Given the description of an element on the screen output the (x, y) to click on. 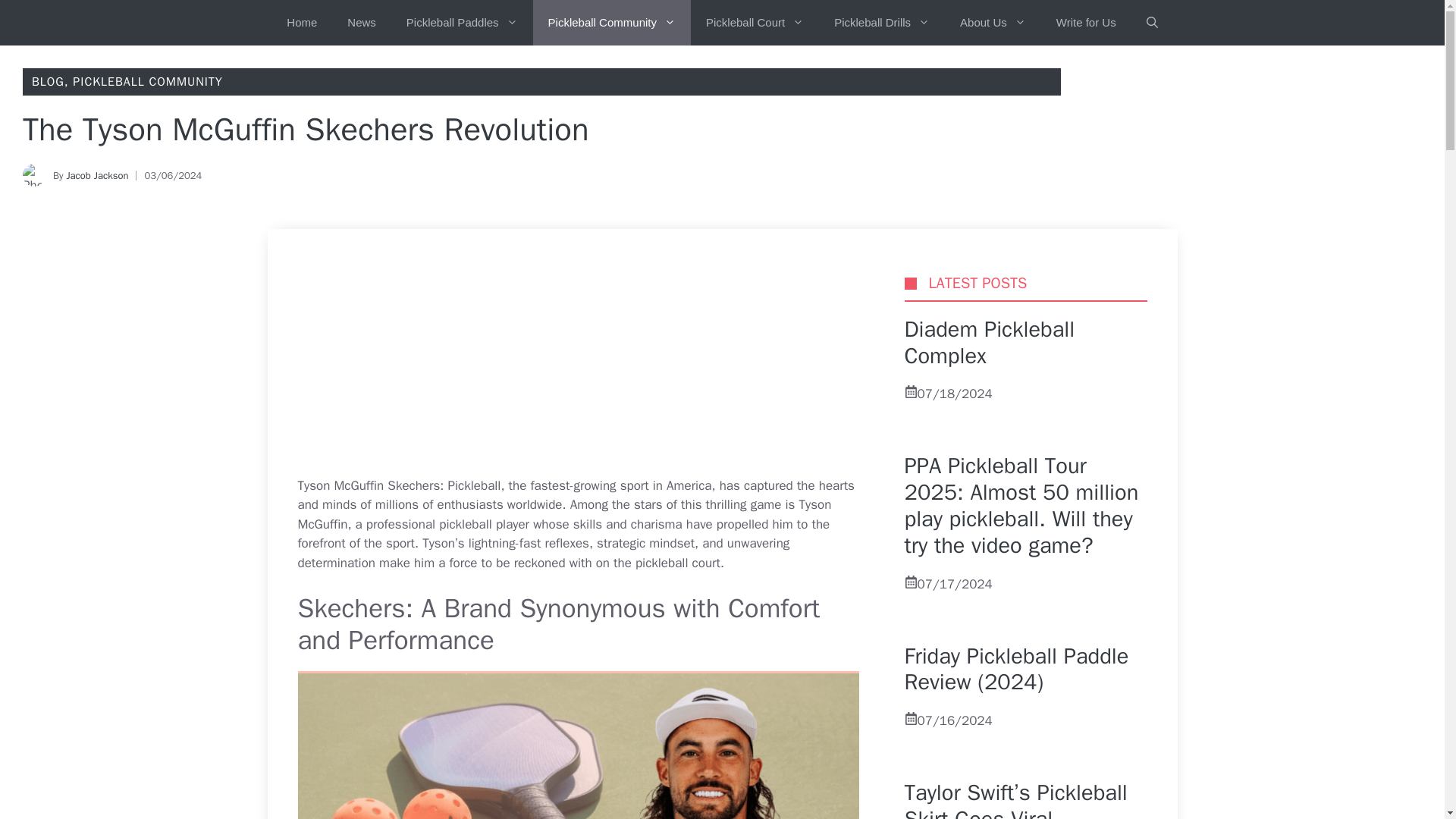
Pickleball Court (754, 22)
Jacob Jackson (96, 174)
Home (300, 22)
Pickleball Community (611, 22)
About Us (992, 22)
Diadem Pickleball Complex (989, 342)
PICKLEBALL COMMUNITY (147, 81)
News (361, 22)
Pickleball Paddles (461, 22)
Write for Us (1086, 22)
BLOG (48, 81)
Pickleball Drills (881, 22)
